Given the description of an element on the screen output the (x, y) to click on. 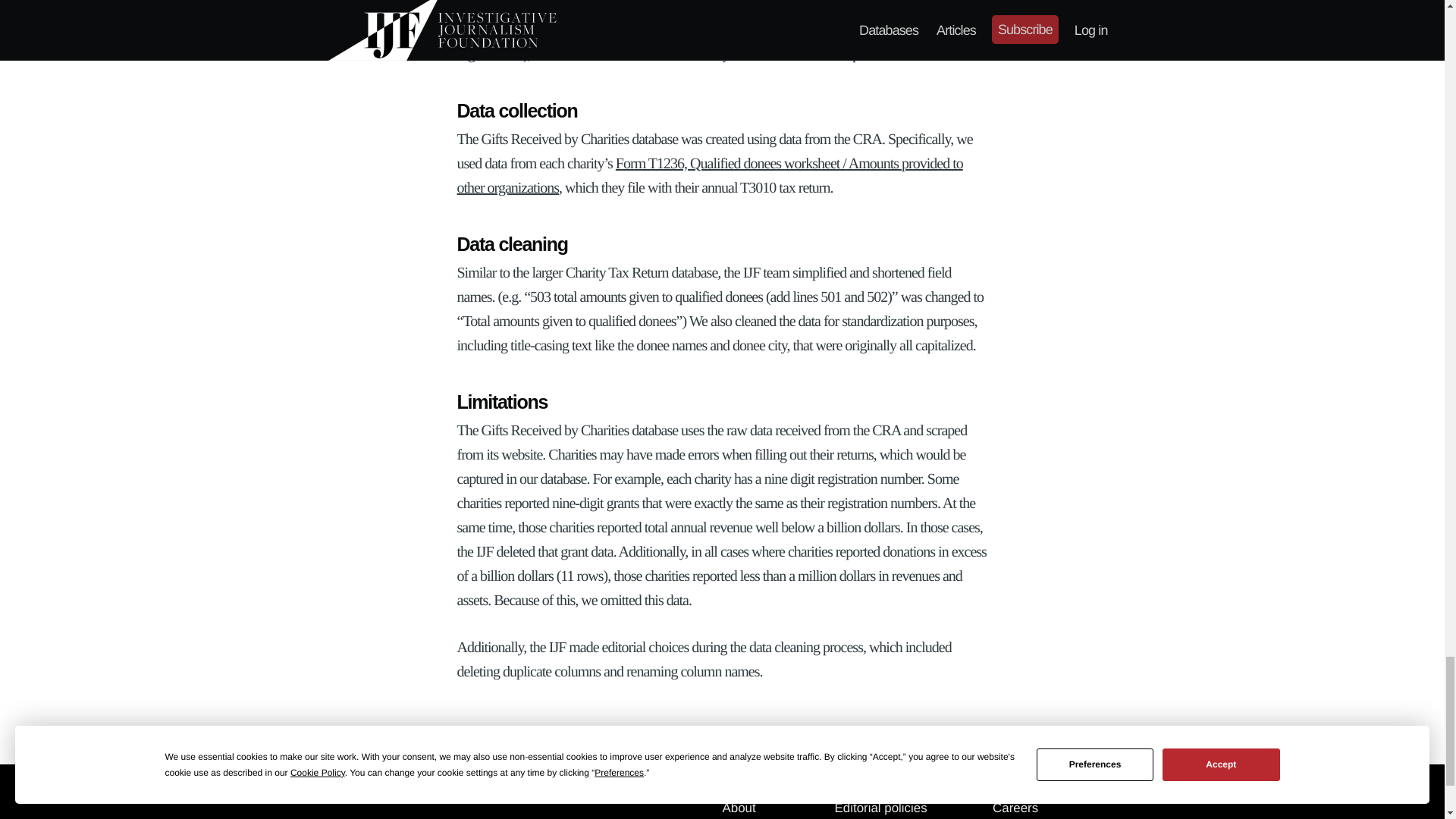
Editorial policies (880, 808)
About (738, 808)
